Given the description of an element on the screen output the (x, y) to click on. 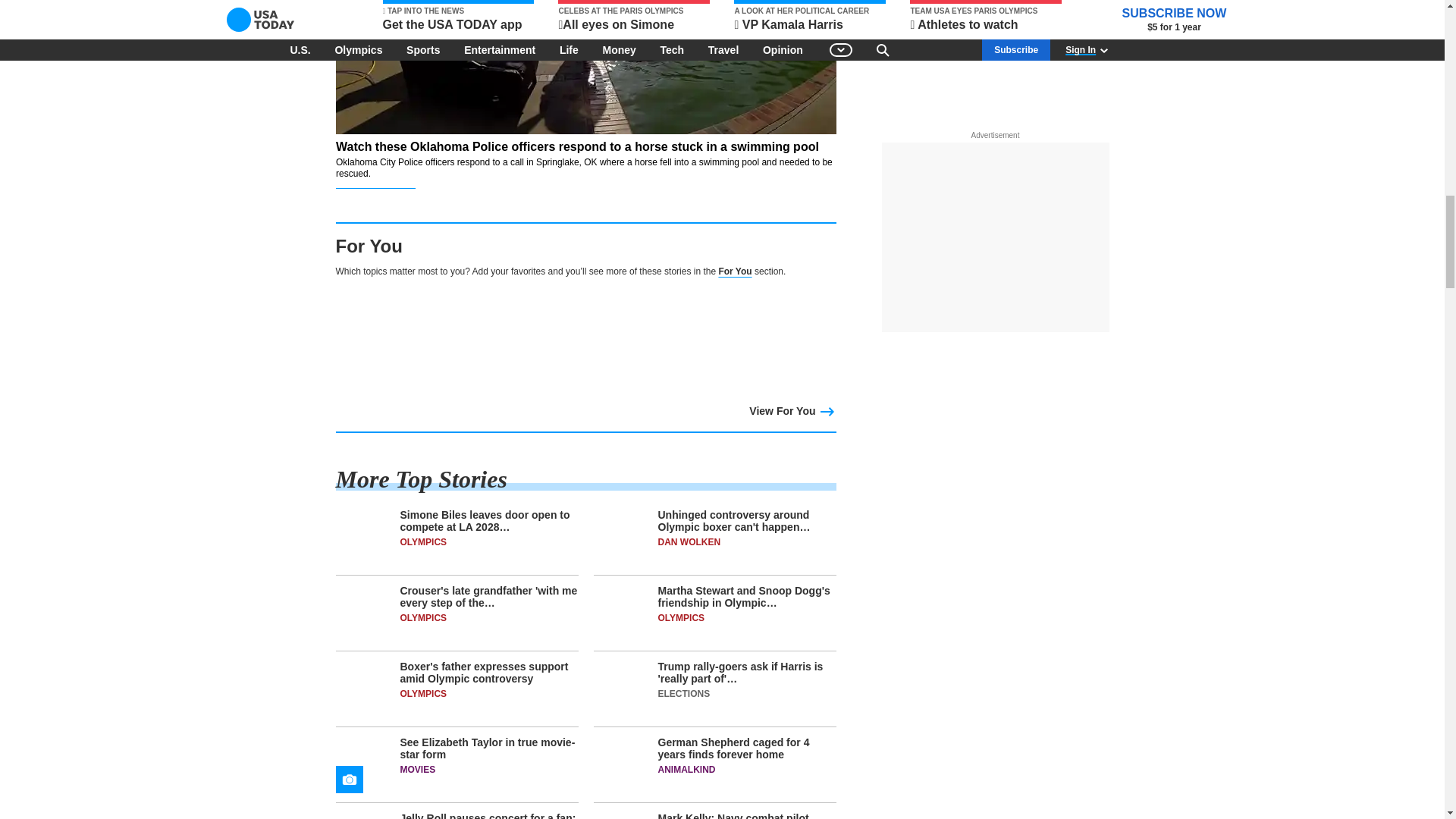
Unhinged controversy around Olympic boxer can't happen again (713, 541)
